Given the description of an element on the screen output the (x, y) to click on. 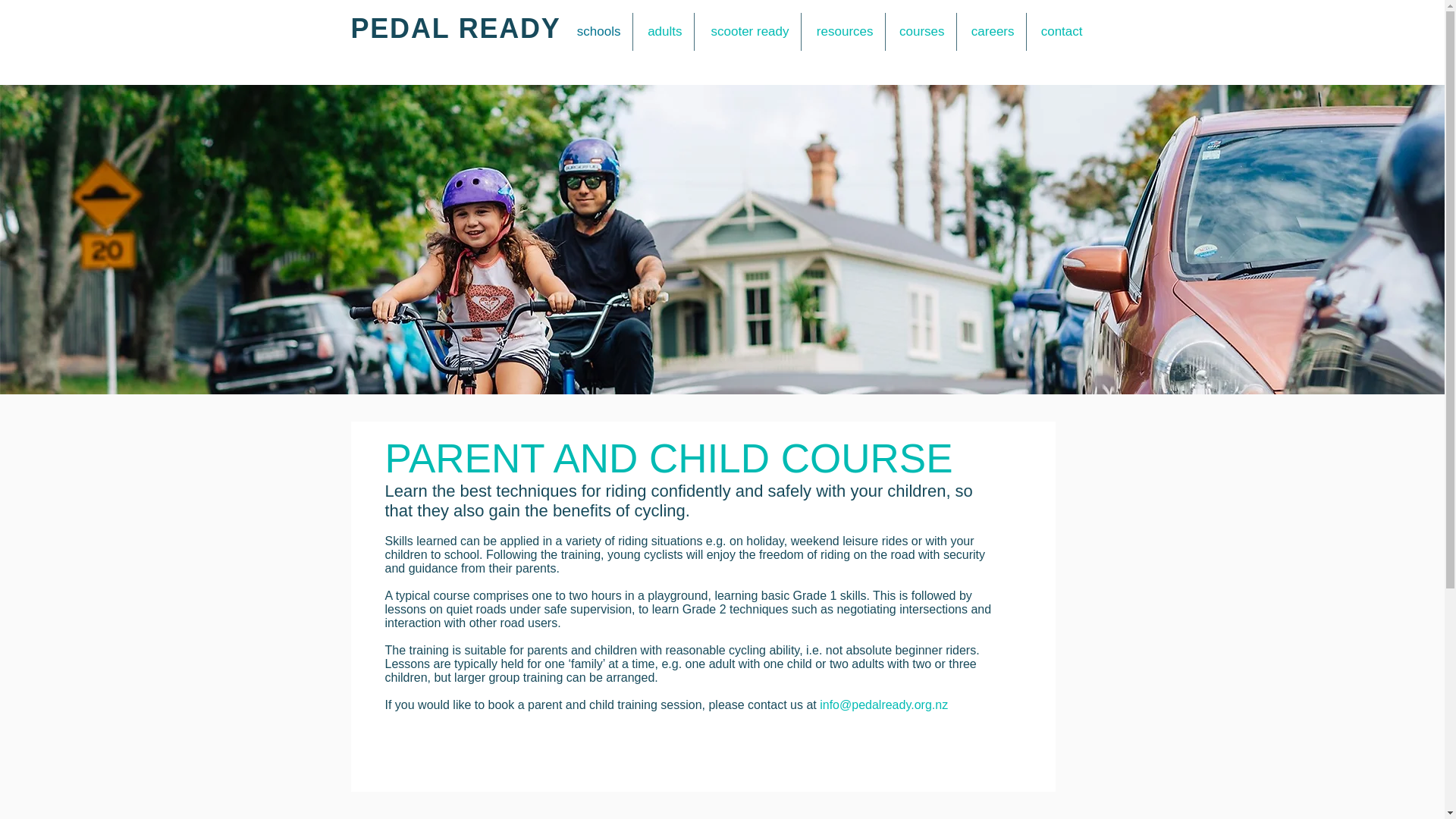
contact (1060, 31)
courses (920, 31)
schools (596, 31)
PEDAL READY (455, 28)
resources (841, 31)
adults (662, 31)
scooter ready (747, 31)
careers (991, 31)
